Given the description of an element on the screen output the (x, y) to click on. 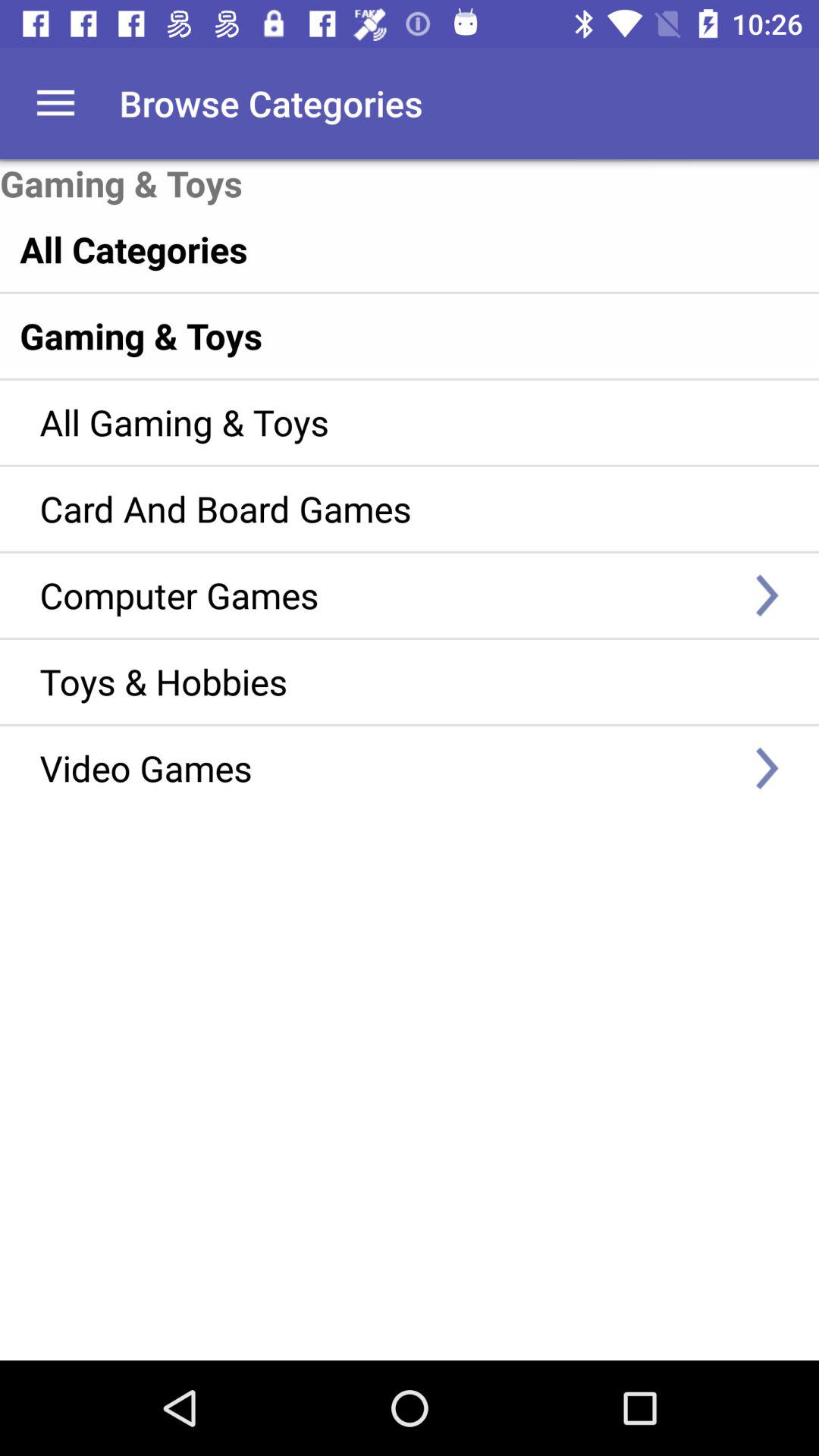
select the item below gaming & toys item (377, 249)
